Given the description of an element on the screen output the (x, y) to click on. 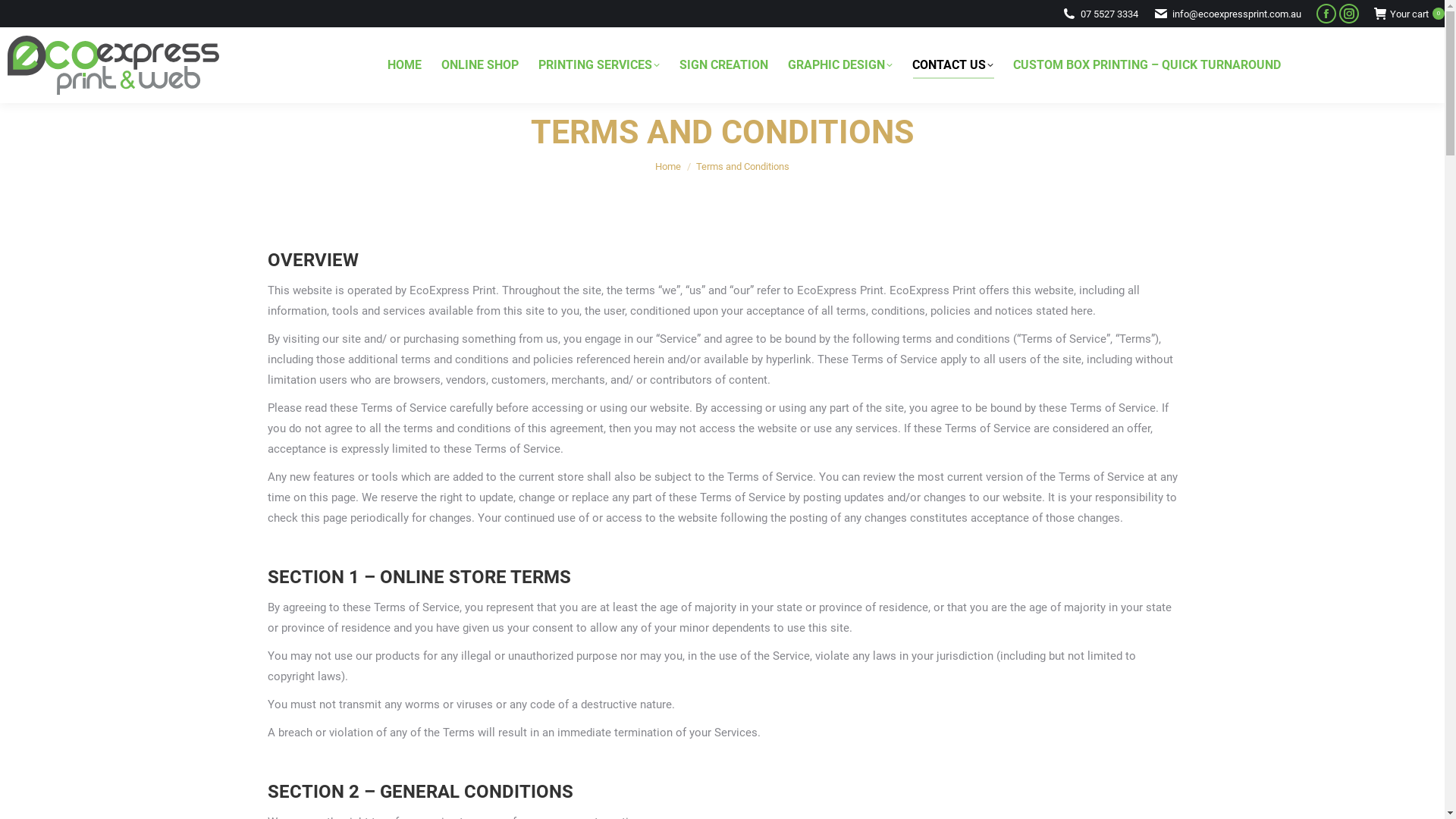
info@ecoexpressprint.com.au Element type: text (1236, 13)
PRINTING SERVICES Element type: text (598, 64)
CONTACT US Element type: text (951, 64)
ONLINE SHOP Element type: text (479, 64)
GRAPHIC DESIGN Element type: text (839, 64)
Your cart
0 Element type: text (1409, 13)
HOME Element type: text (403, 64)
Instagram page opens in new window Element type: text (1348, 13)
07 5527 3334 Element type: text (1109, 13)
Facebook page opens in new window Element type: text (1326, 13)
Home Element type: text (667, 166)
SIGN CREATION Element type: text (723, 64)
